Given the description of an element on the screen output the (x, y) to click on. 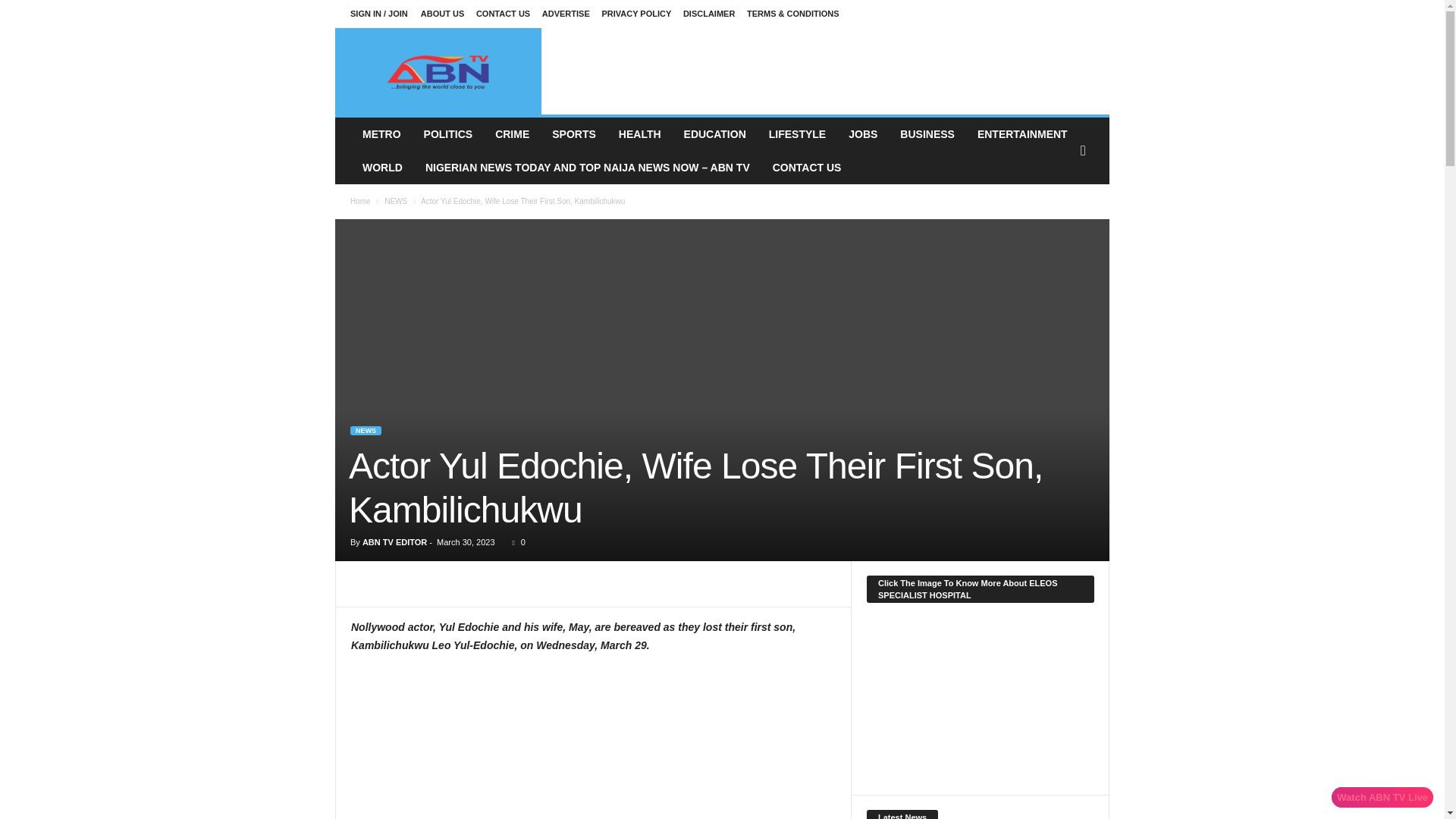
ABOUT US (442, 13)
View all posts in NEWS (395, 201)
